Given the description of an element on the screen output the (x, y) to click on. 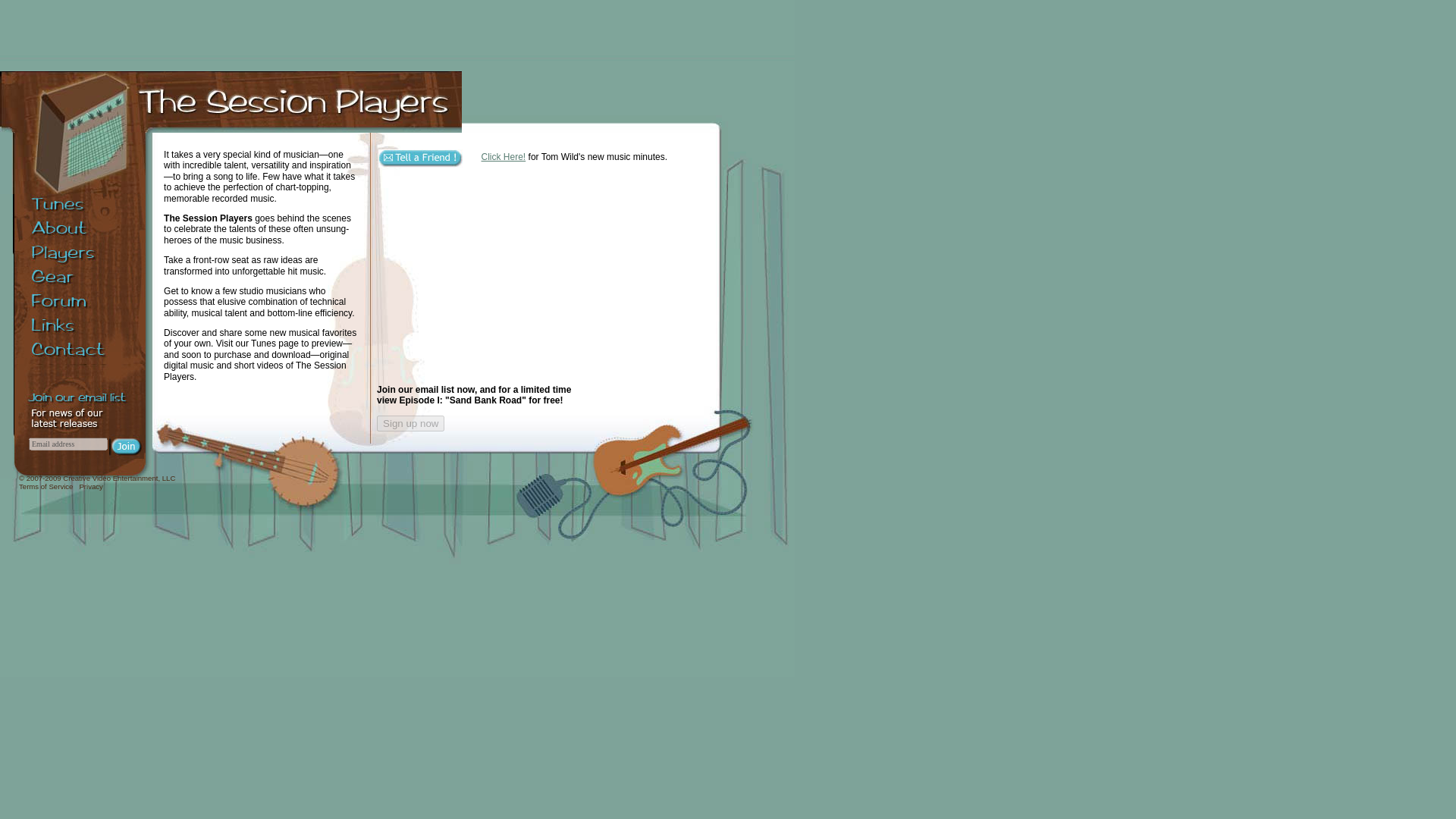
Sign up now (410, 423)
Privacy (89, 486)
Email address (68, 443)
Terms of Service (45, 486)
Click Here! (503, 156)
Sign up now (410, 423)
